Given the description of an element on the screen output the (x, y) to click on. 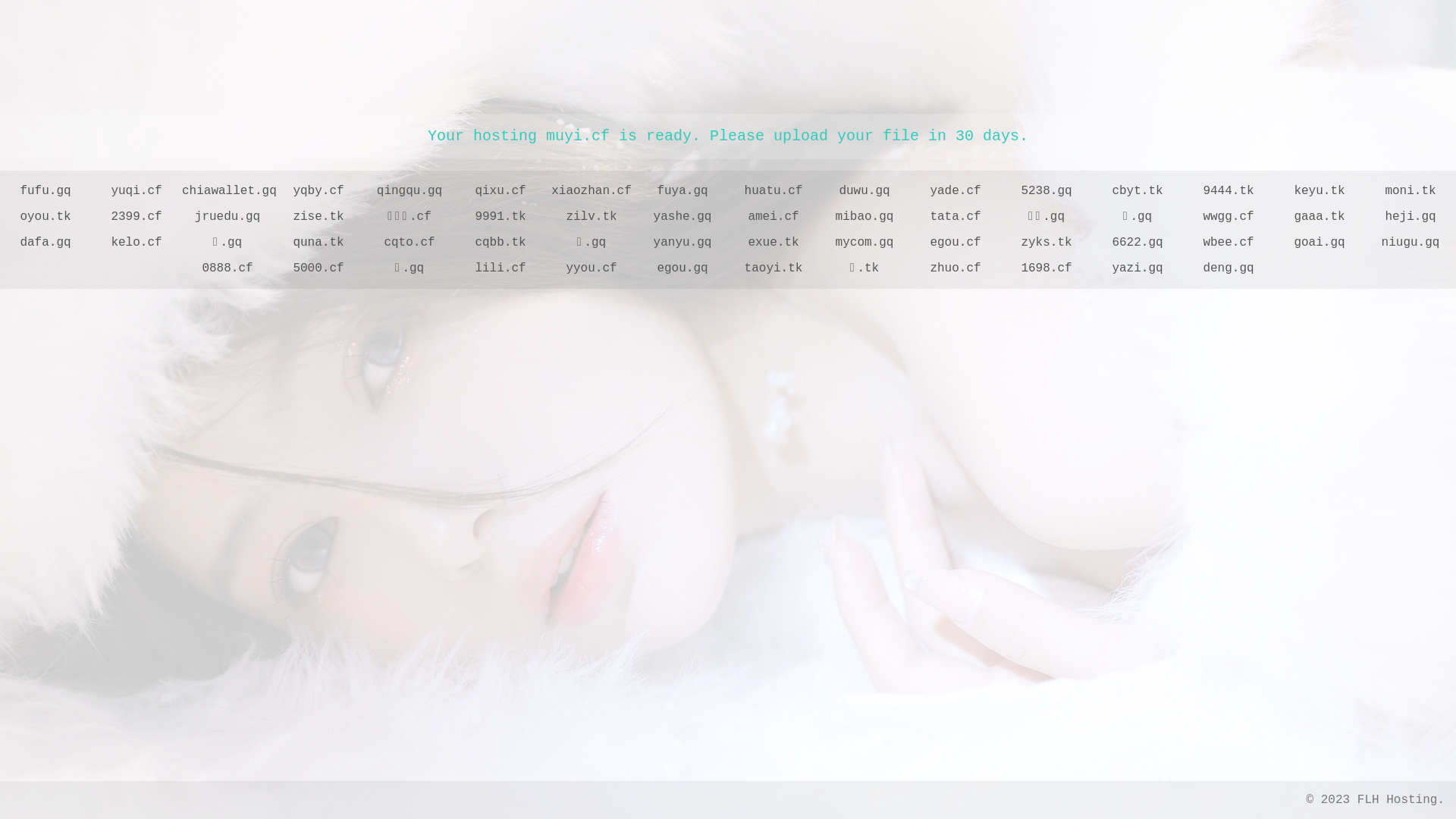
yqby.cf Element type: text (318, 190)
2399.cf Element type: text (136, 216)
zyks.tk Element type: text (1046, 242)
kelo.cf Element type: text (136, 242)
dafa.gq Element type: text (45, 242)
exue.tk Element type: text (773, 242)
xiaozhan.cf Element type: text (591, 190)
6622.gq Element type: text (1137, 242)
goai.gq Element type: text (1319, 242)
cbyt.tk Element type: text (1137, 190)
yuqi.cf Element type: text (136, 190)
5238.gq Element type: text (1046, 190)
huatu.cf Element type: text (773, 190)
9991.tk Element type: text (500, 216)
amei.cf Element type: text (773, 216)
yazi.gq Element type: text (1137, 268)
9444.tk Element type: text (1228, 190)
wbee.cf Element type: text (1228, 242)
zhuo.cf Element type: text (955, 268)
cqbb.tk Element type: text (500, 242)
1698.cf Element type: text (1046, 268)
5000.cf Element type: text (318, 268)
deng.gq Element type: text (1228, 268)
cqto.cf Element type: text (409, 242)
lili.cf Element type: text (500, 268)
jruedu.gq Element type: text (227, 216)
oyou.tk Element type: text (45, 216)
chiawallet.gq Element type: text (227, 190)
yyou.cf Element type: text (591, 268)
qingqu.gq Element type: text (409, 190)
yashe.gq Element type: text (682, 216)
mibao.gq Element type: text (864, 216)
fuya.gq Element type: text (682, 190)
wwgg.cf Element type: text (1228, 216)
fufu.gq Element type: text (45, 190)
qixu.cf Element type: text (500, 190)
yade.cf Element type: text (955, 190)
taoyi.tk Element type: text (773, 268)
gaaa.tk Element type: text (1319, 216)
tata.cf Element type: text (955, 216)
egou.gq Element type: text (682, 268)
duwu.gq Element type: text (864, 190)
yanyu.gq Element type: text (682, 242)
egou.cf Element type: text (955, 242)
keyu.tk Element type: text (1319, 190)
quna.tk Element type: text (318, 242)
zise.tk Element type: text (318, 216)
zilv.tk Element type: text (591, 216)
mycom.gq Element type: text (864, 242)
0888.cf Element type: text (227, 268)
